Given the description of an element on the screen output the (x, y) to click on. 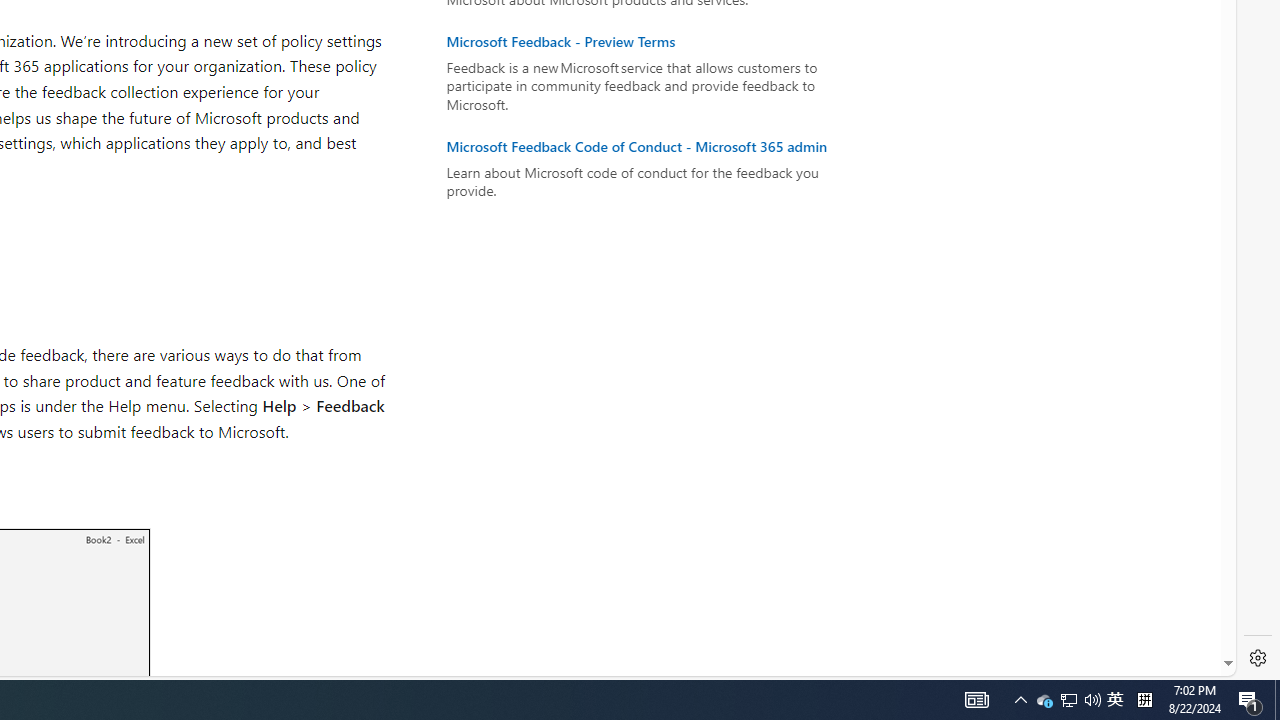
Microsoft Feedback Code of Conduct - Microsoft 365 admin (646, 146)
Settings (1258, 658)
Microsoft Feedback - Preview Terms (646, 42)
